Given the description of an element on the screen output the (x, y) to click on. 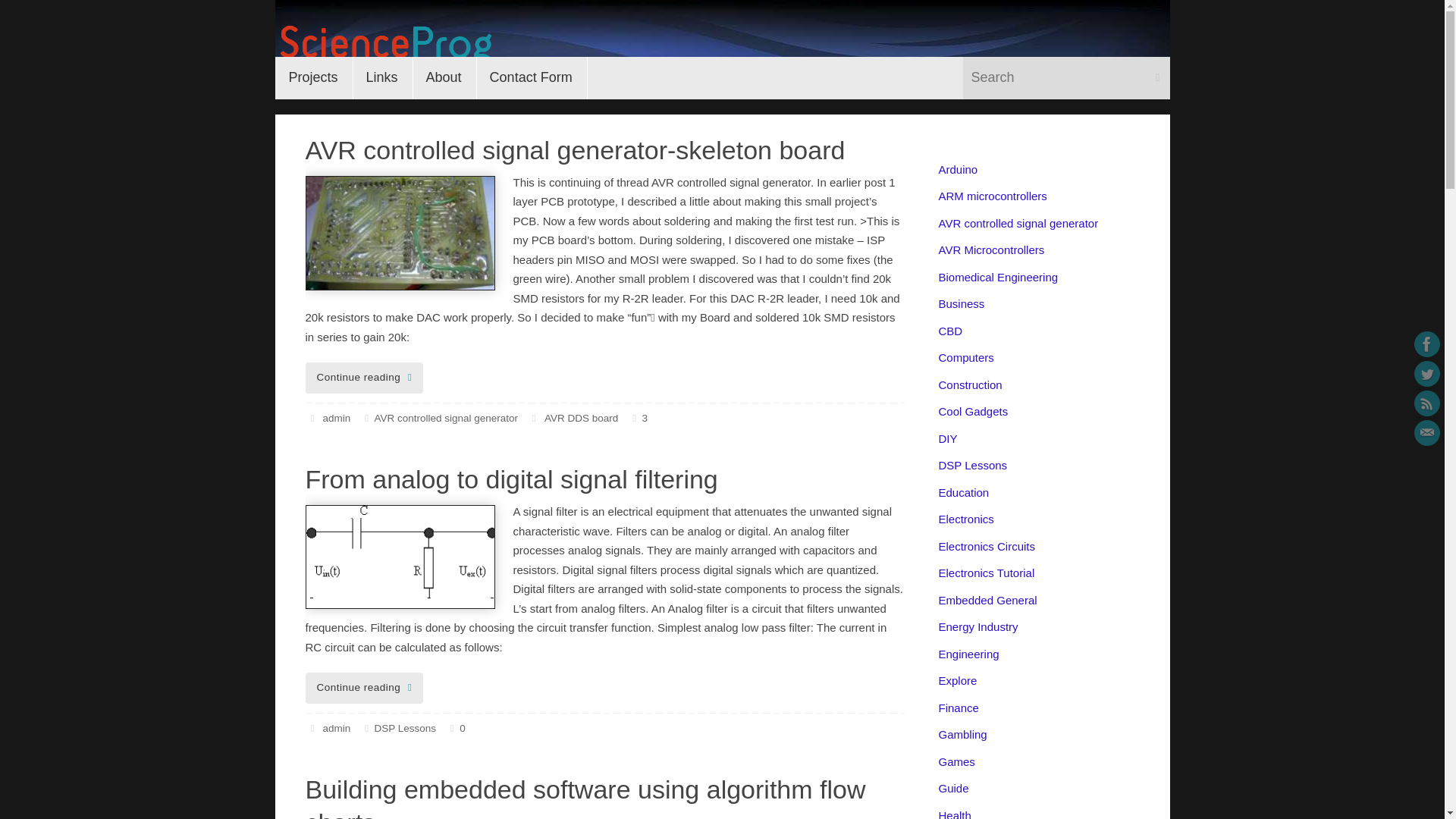
Categories (366, 418)
Continue reading (363, 687)
3 Comments (634, 418)
DSP Lessons (404, 727)
AVR controlled signal generator (446, 418)
admin (335, 418)
View all posts by admin (335, 418)
0 (455, 727)
Links (382, 77)
Feedburner (1426, 403)
